Given the description of an element on the screen output the (x, y) to click on. 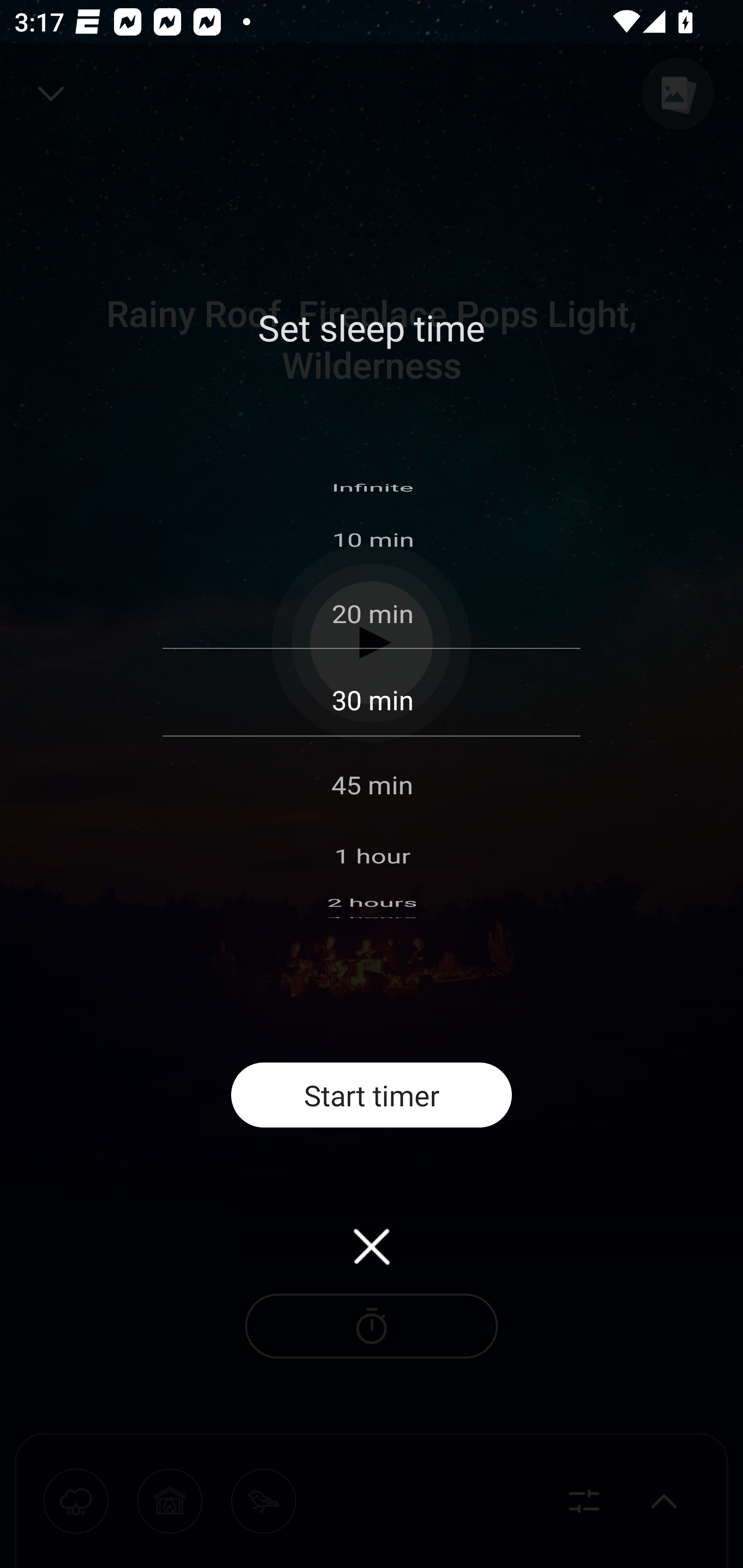
Start timer (371, 1095)
